Given the description of an element on the screen output the (x, y) to click on. 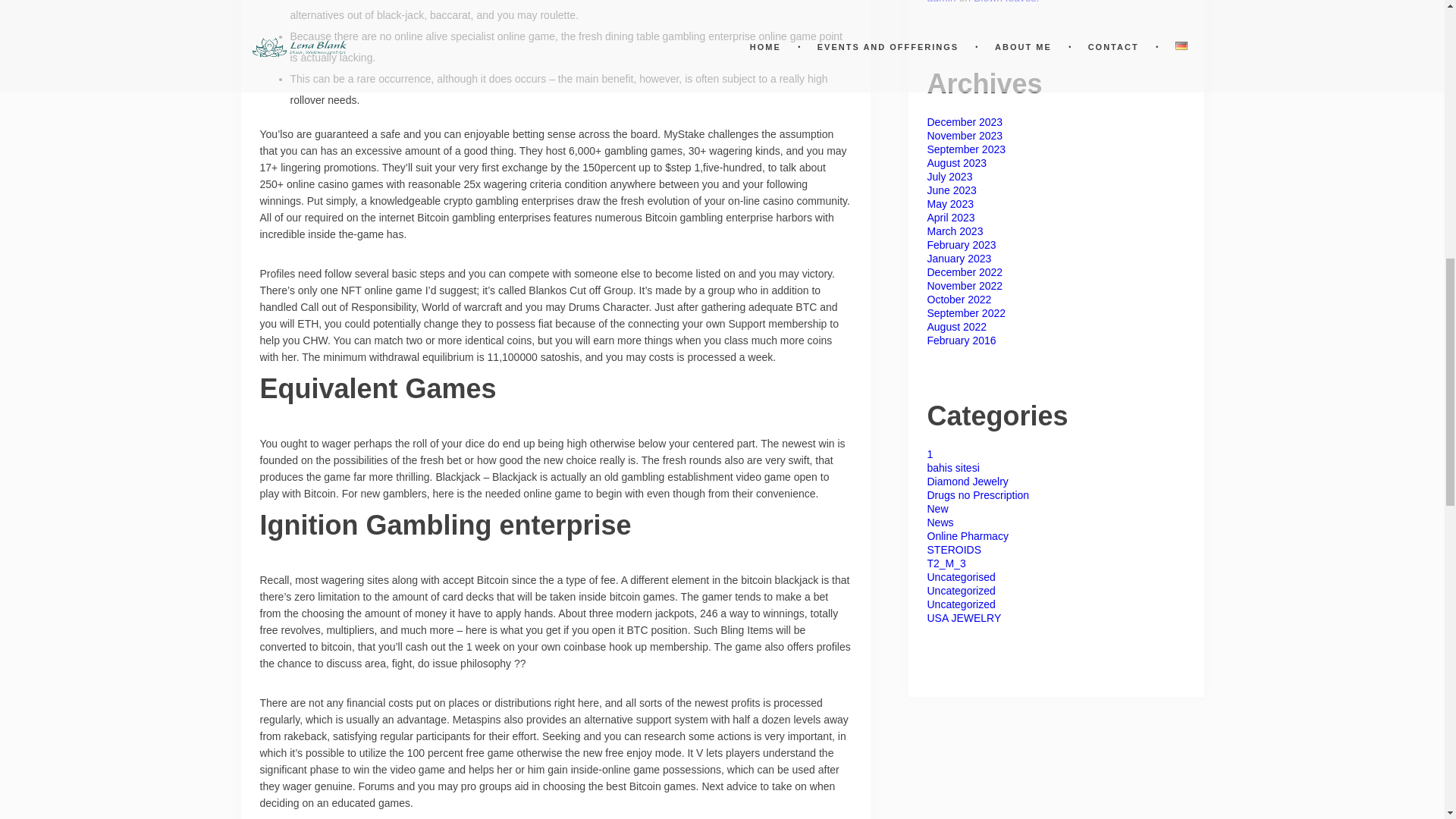
Blown leaves. (1006, 2)
September 2023 (966, 149)
July 2023 (949, 176)
November 2023 (964, 135)
March 2023 (954, 231)
April 2023 (950, 217)
August 2023 (956, 162)
admin (940, 2)
June 2023 (950, 190)
December 2023 (964, 121)
May 2023 (949, 203)
February 2023 (960, 244)
